Given the description of an element on the screen output the (x, y) to click on. 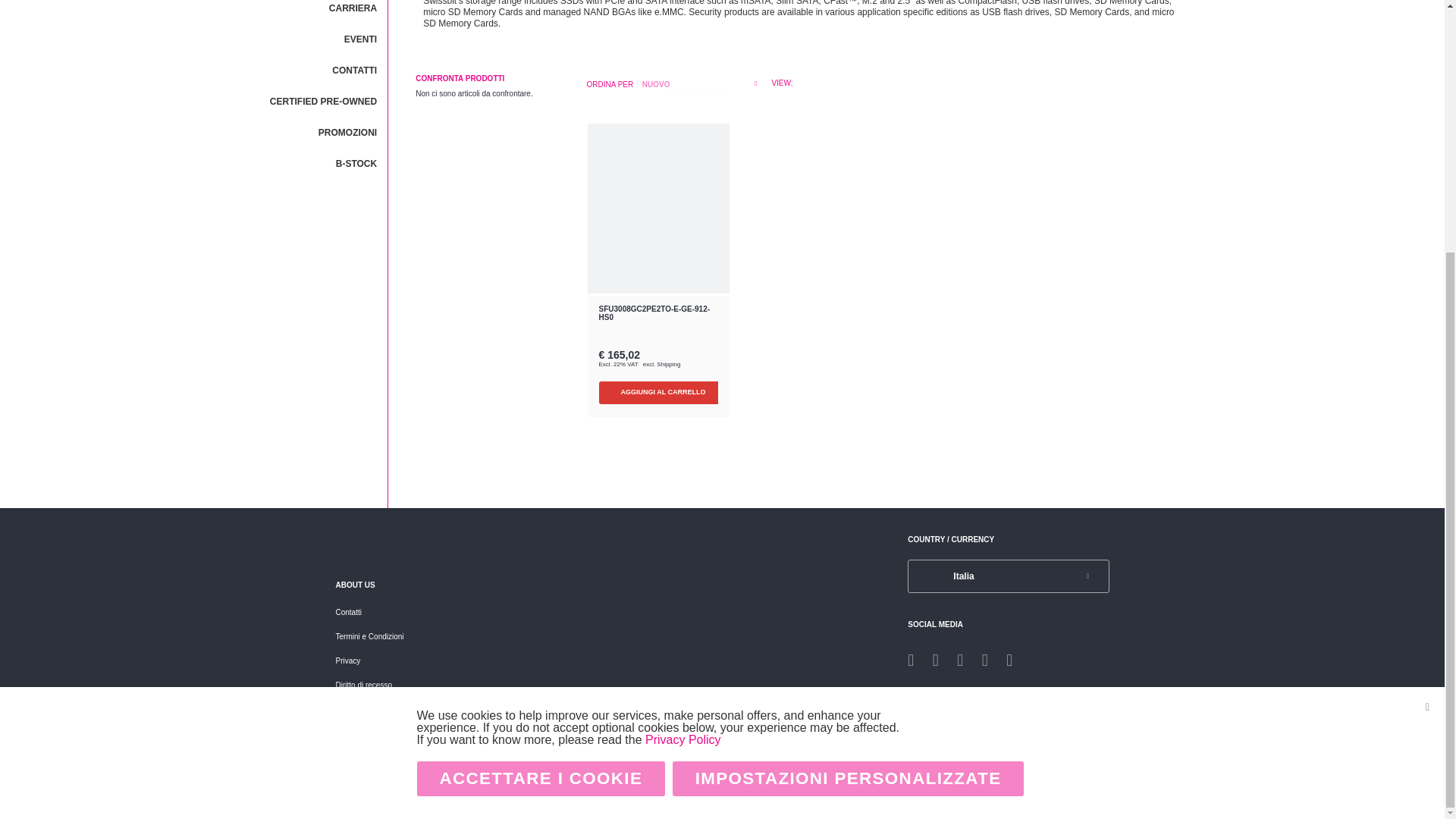
Lista (798, 81)
Aggiungi al Carrello (663, 392)
Privacy Policy (682, 383)
